Given the description of an element on the screen output the (x, y) to click on. 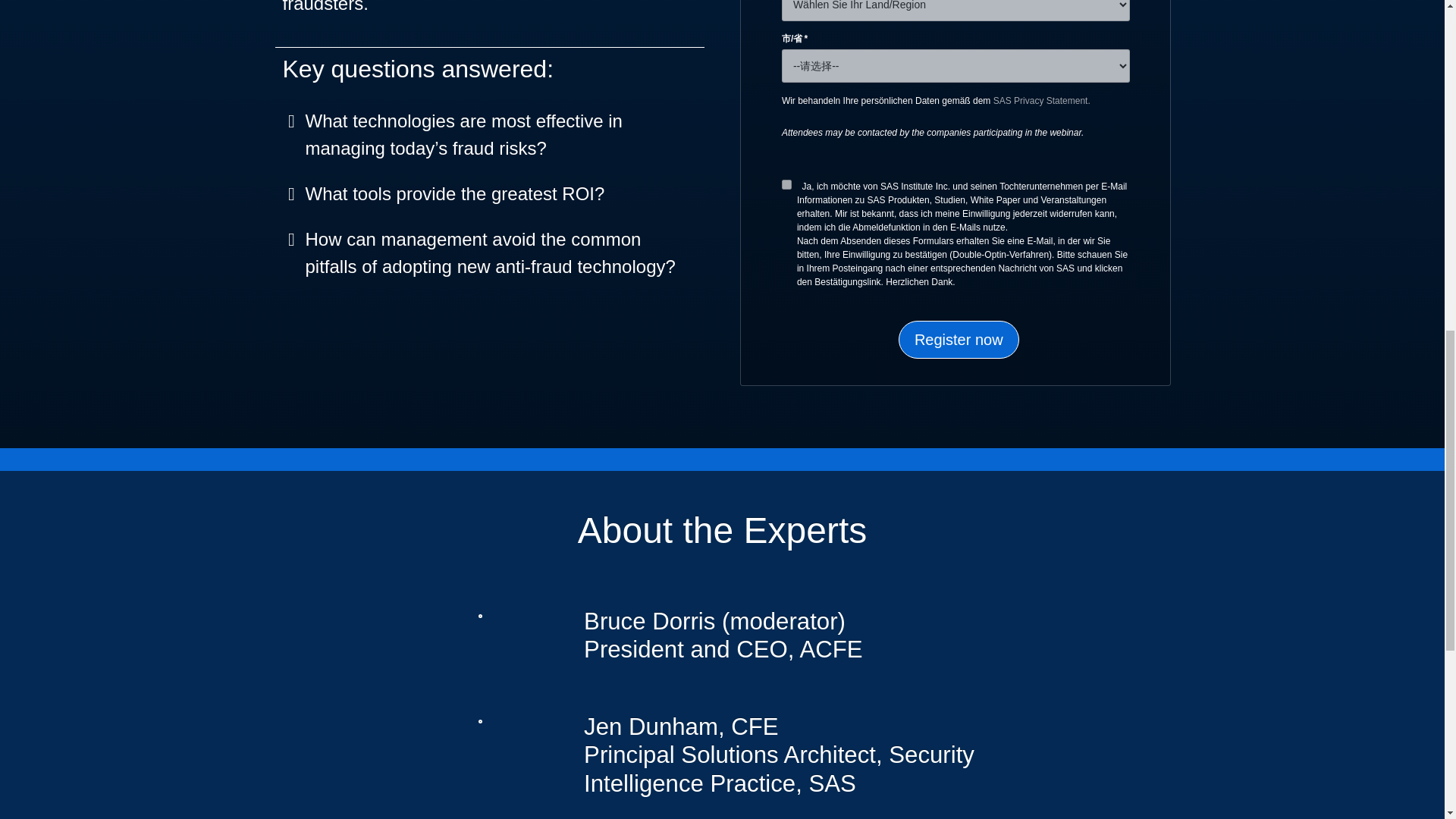
Register now (958, 339)
1 (786, 184)
SAS Privacy Statement. (1041, 100)
